Given the description of an element on the screen output the (x, y) to click on. 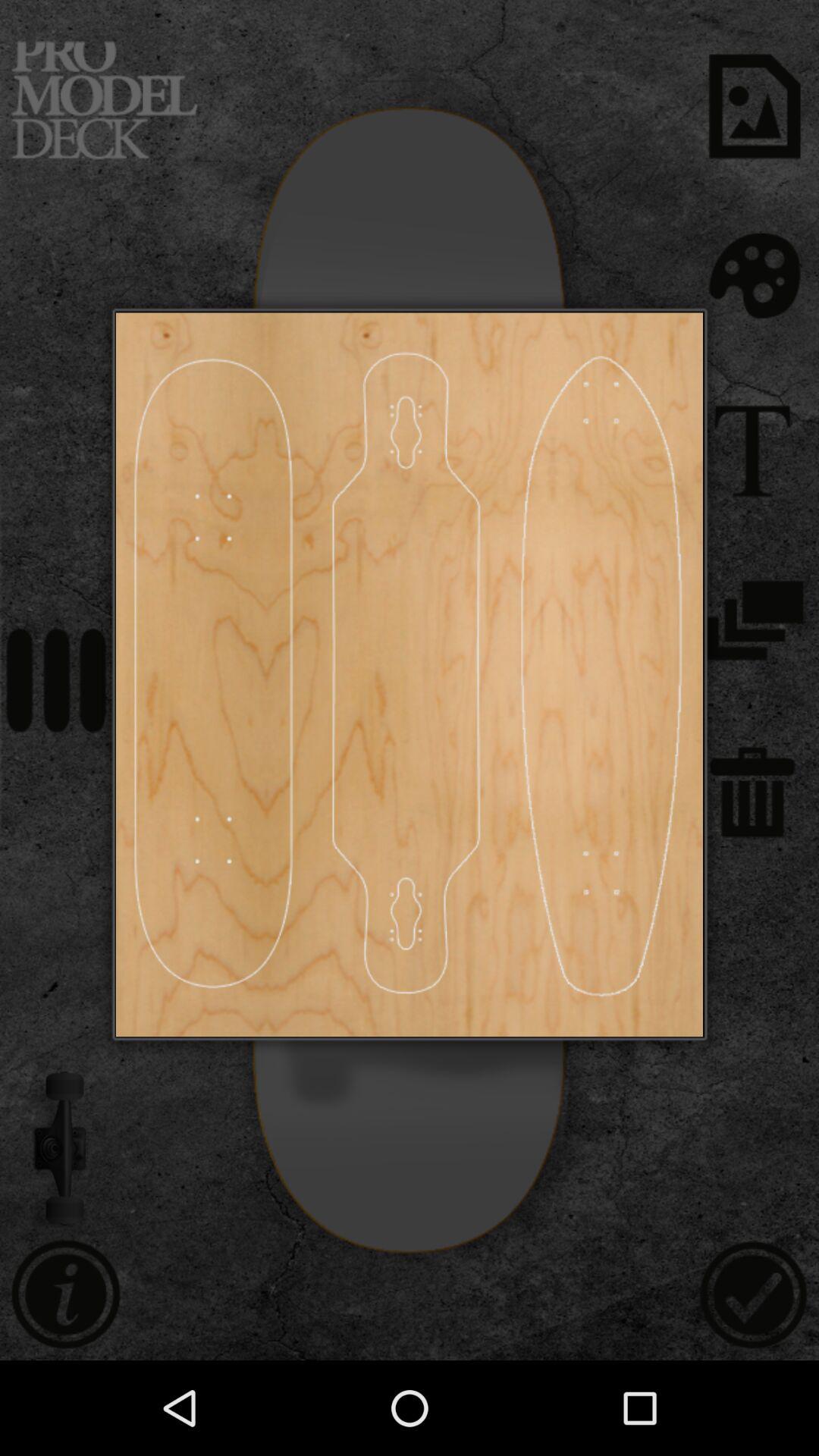
select skate design (600, 674)
